Given the description of an element on the screen output the (x, y) to click on. 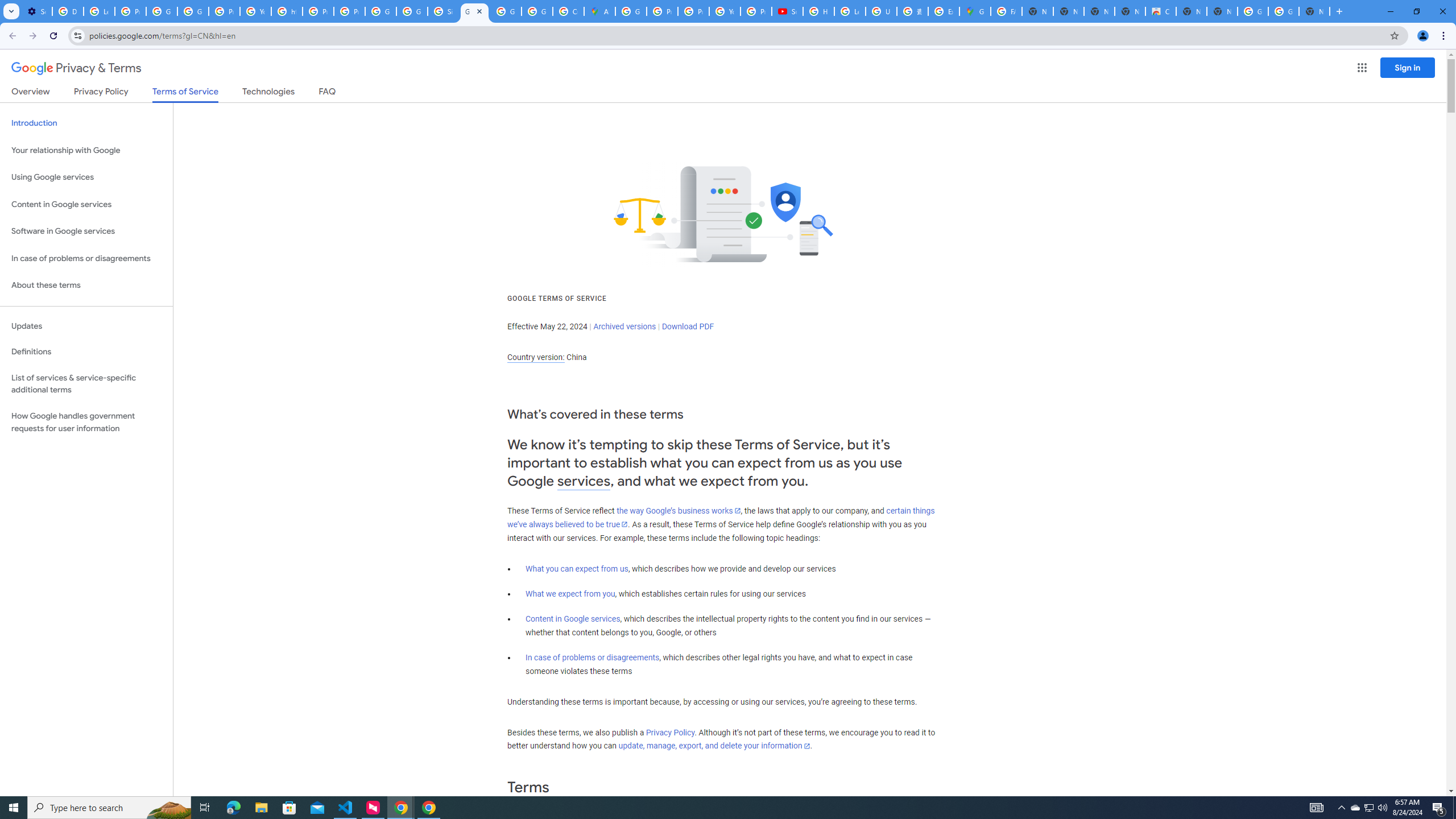
Chrome Web Store (1160, 11)
Sign in - Google Accounts (443, 11)
Using Google services (86, 176)
Google Images (1252, 11)
Settings - On startup (36, 11)
In case of problems or disagreements (592, 657)
Download PDF (687, 326)
